Given the description of an element on the screen output the (x, y) to click on. 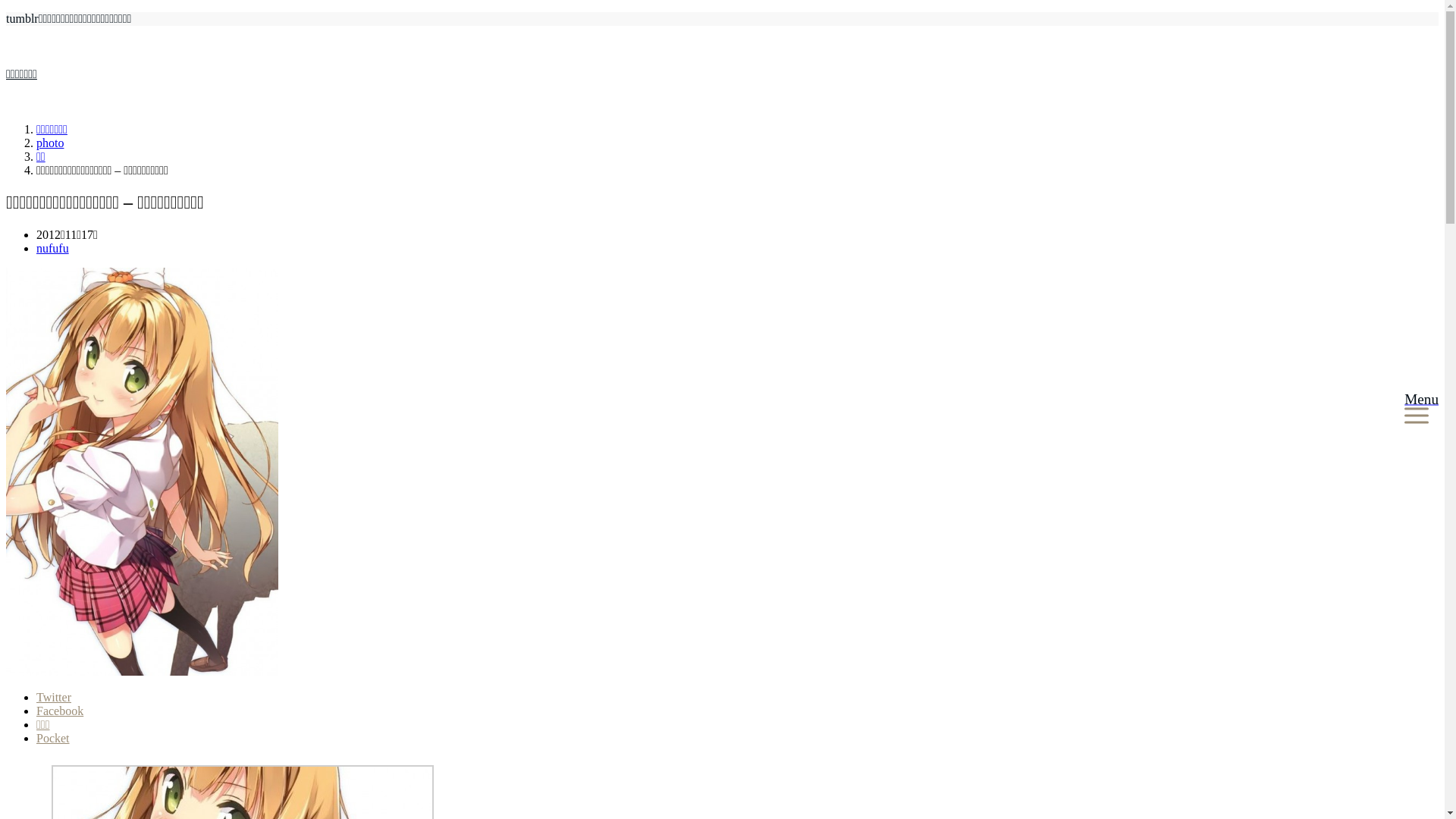
Pocket Element type: text (52, 737)
photo Element type: text (49, 142)
Twitter Element type: text (53, 696)
Facebook Element type: text (59, 710)
nufufu Element type: text (52, 247)
Menu Element type: text (1421, 409)
